Given the description of an element on the screen output the (x, y) to click on. 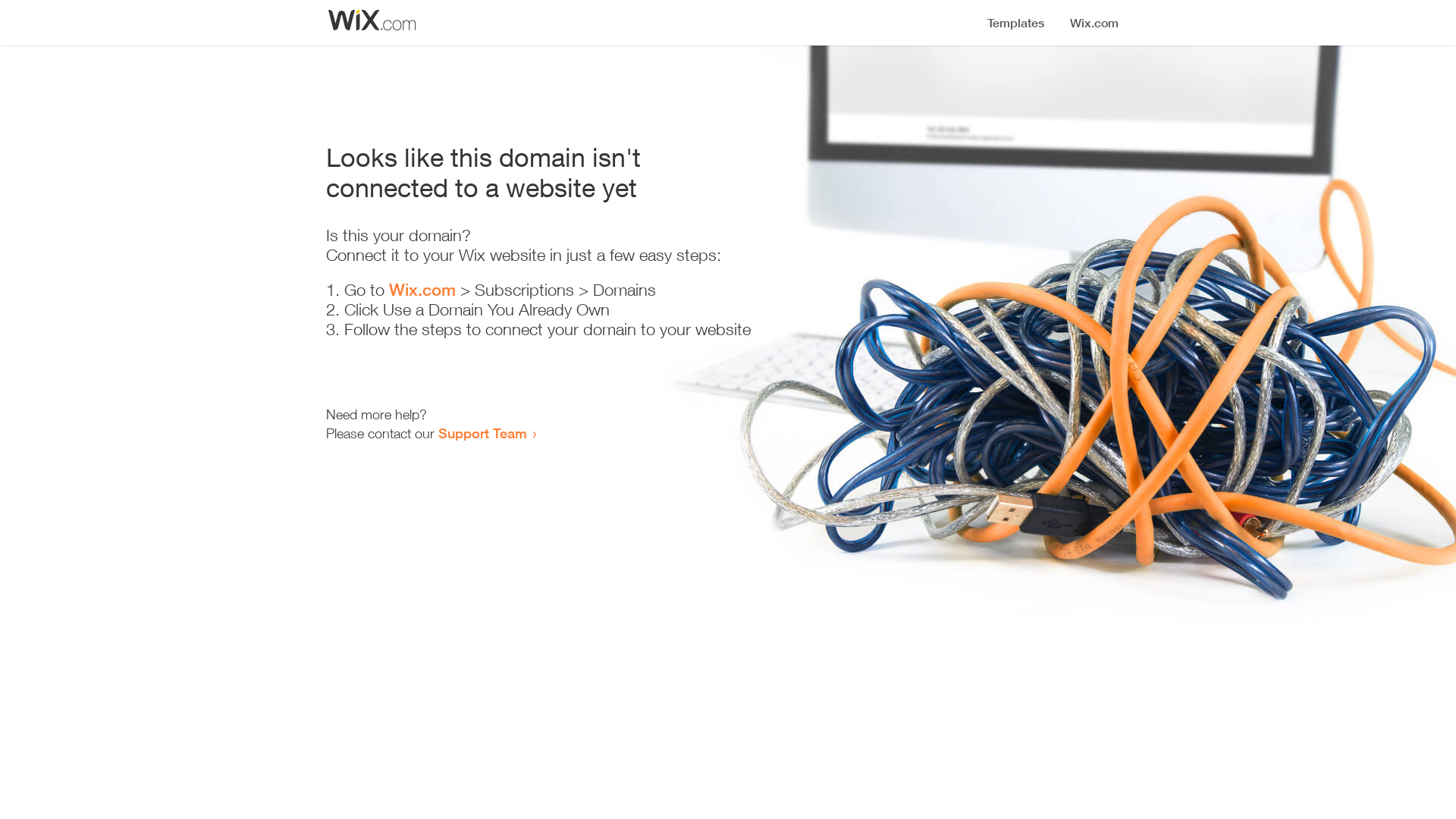
Wix.com Element type: text (422, 289)
Support Team Element type: text (482, 432)
